Given the description of an element on the screen output the (x, y) to click on. 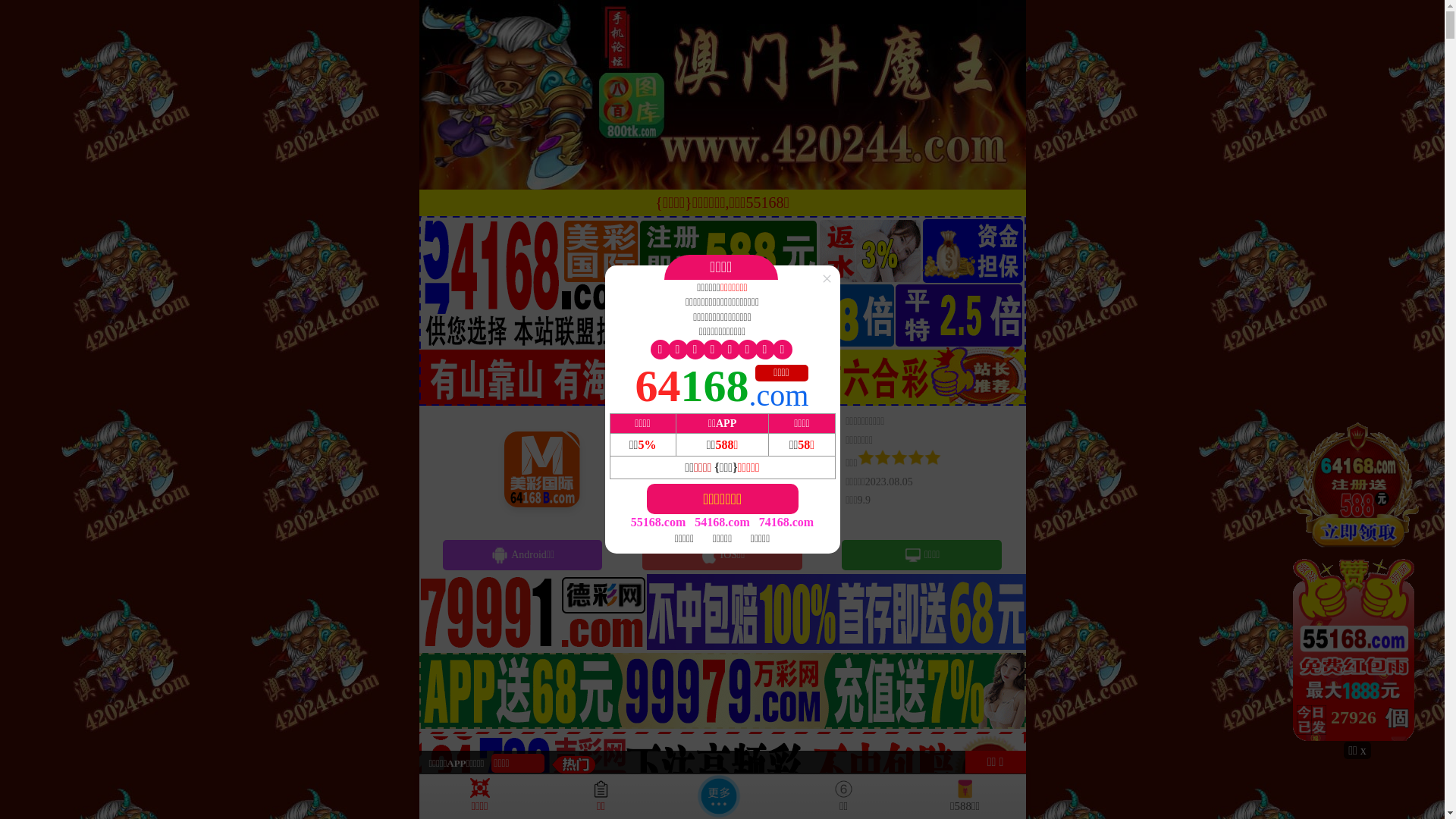
28026 Element type: text (1356, 581)
